Given the description of an element on the screen output the (x, y) to click on. 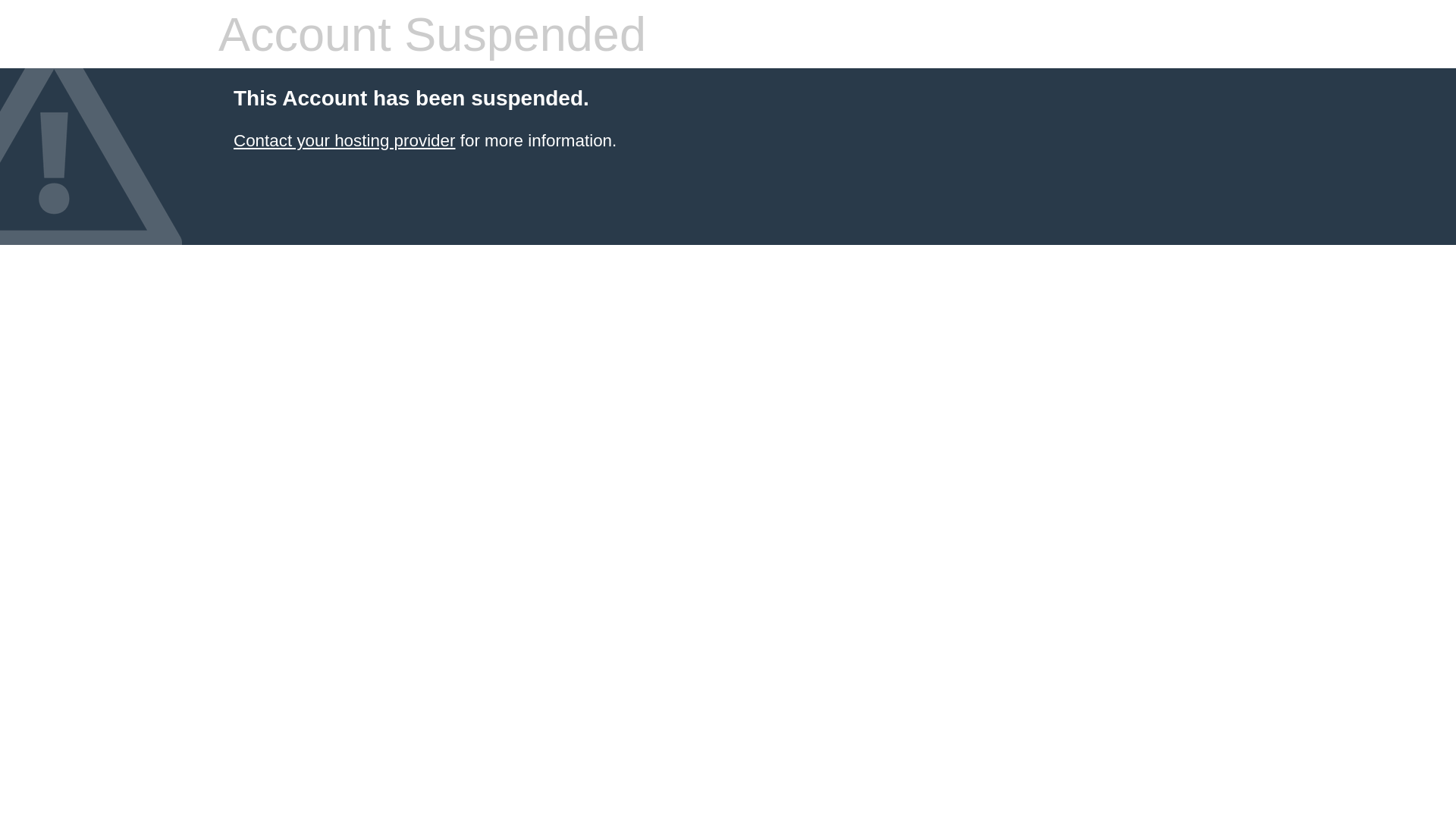
Contact your hosting provider Element type: text (344, 140)
